Given the description of an element on the screen output the (x, y) to click on. 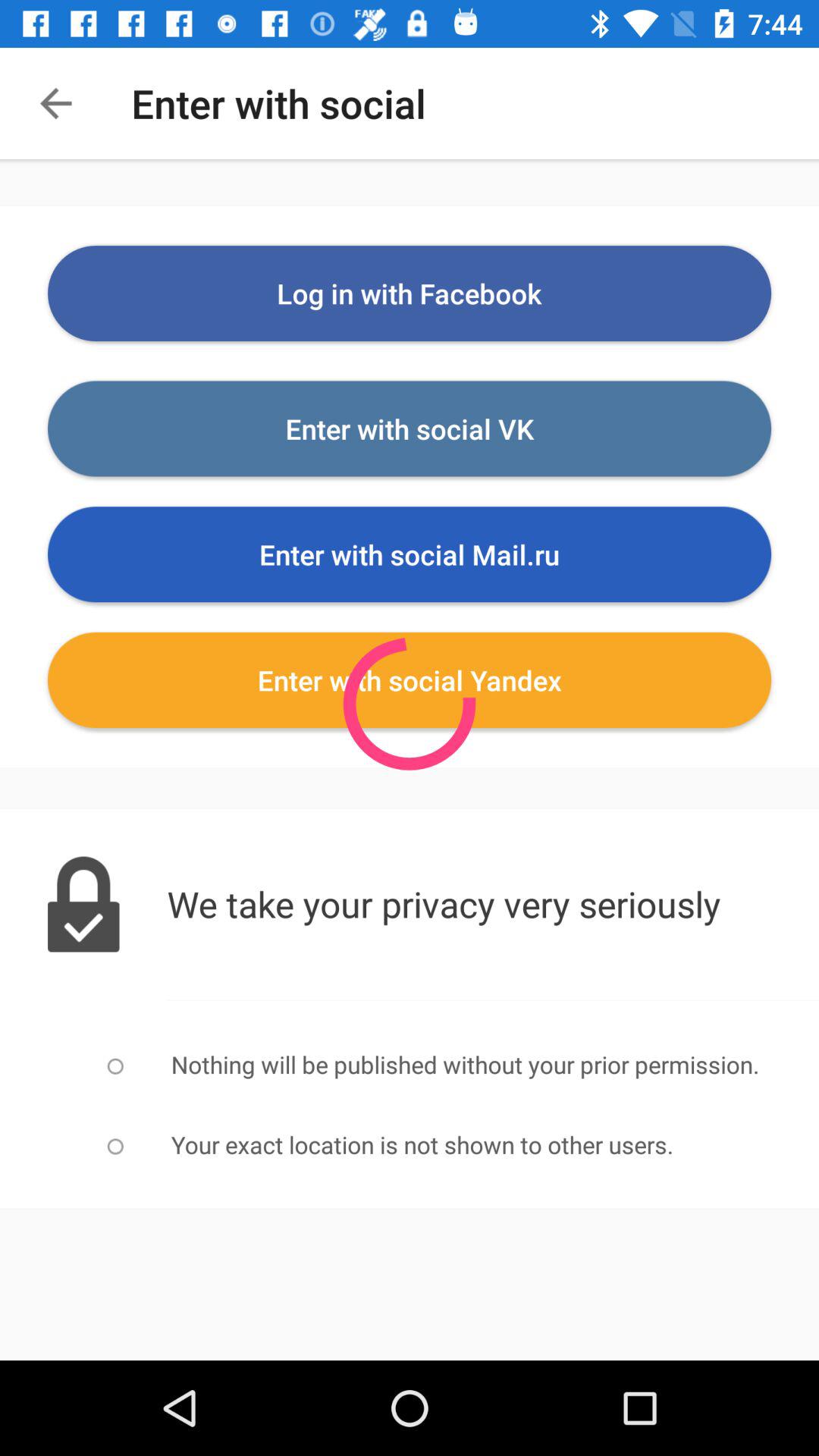
scroll until log in with (409, 293)
